Given the description of an element on the screen output the (x, y) to click on. 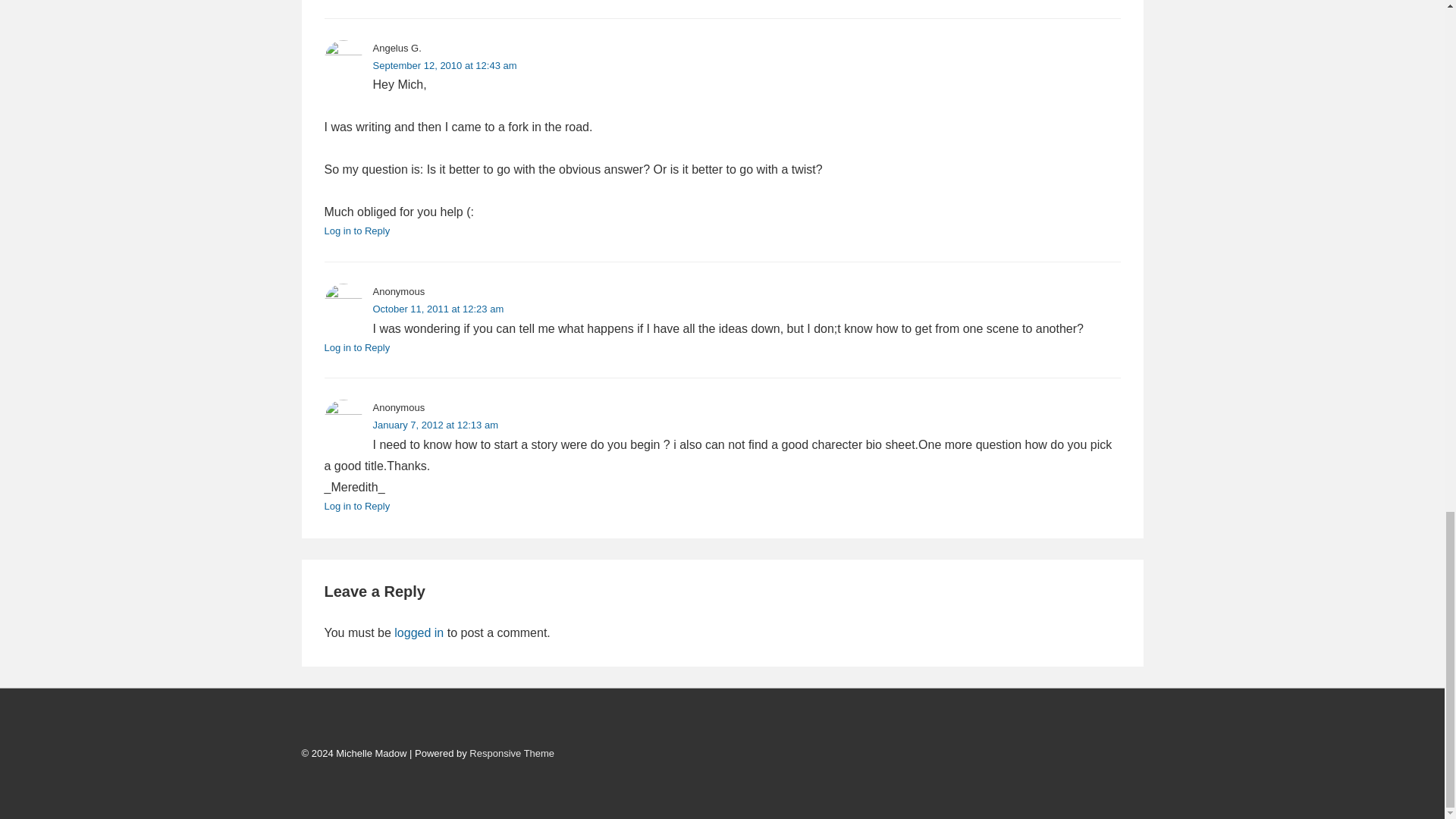
Log in to Reply (357, 230)
logged in (419, 632)
Log in to Reply (357, 346)
September 12, 2010 at 12:43 am (444, 64)
Log in to Reply (357, 505)
Responsive Theme (511, 753)
January 7, 2012 at 12:13 am (435, 424)
October 11, 2011 at 12:23 am (437, 308)
